Given the description of an element on the screen output the (x, y) to click on. 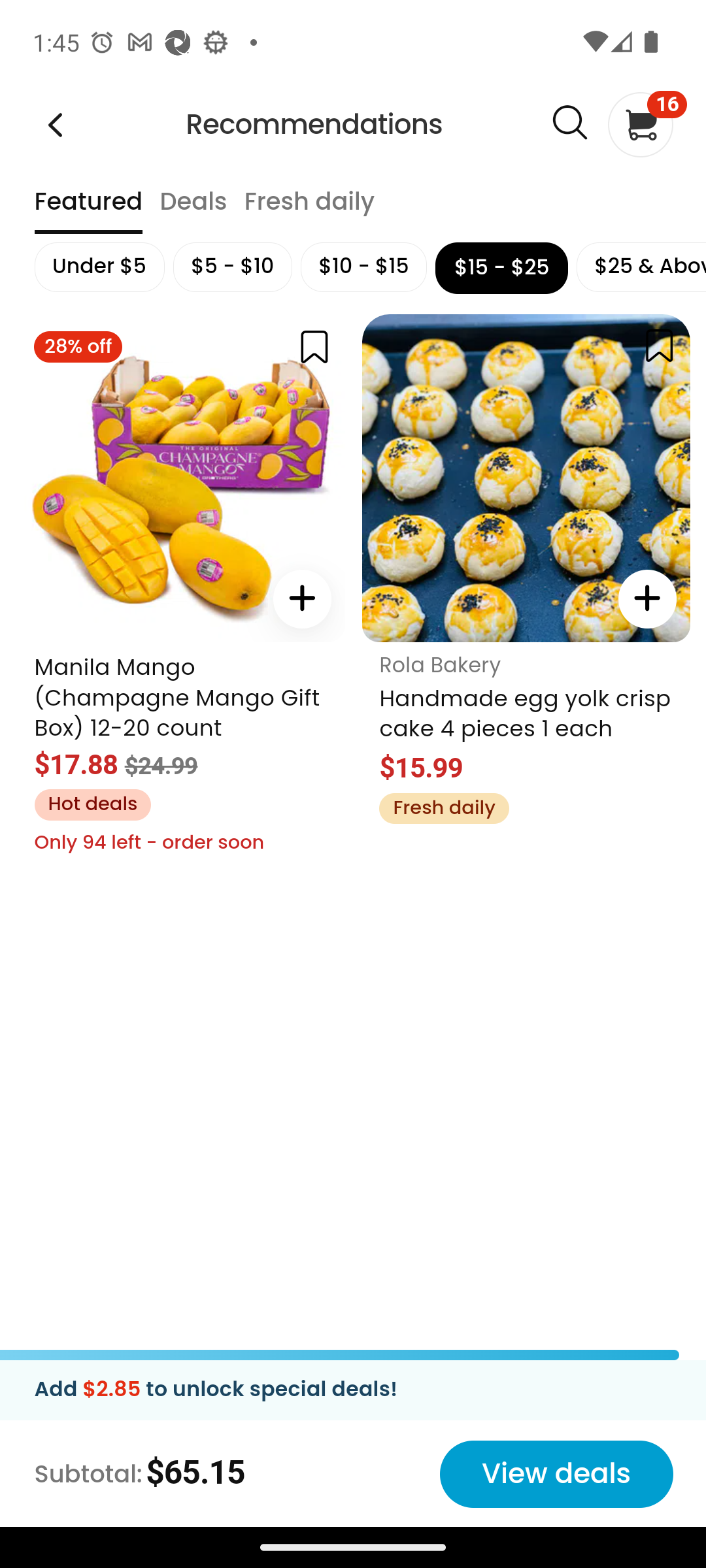
My cart 16 My cart (639, 124)
Weee! - Groceries Delivered (54, 124)
 (569, 123)
Featured (87, 210)
Deals (192, 210)
Fresh daily (308, 210)
Under $5 (97, 267)
$5 - $10 (231, 267)
$10 - $15 (362, 267)
$15 - $25 (501, 267)
$25 & Above (641, 267)
 (659, 344)
 (313, 346)
 (301, 597)
 (647, 597)
Hot deals (91, 803)
Fresh daily (443, 807)
View deals (556, 1473)
